Given the description of an element on the screen output the (x, y) to click on. 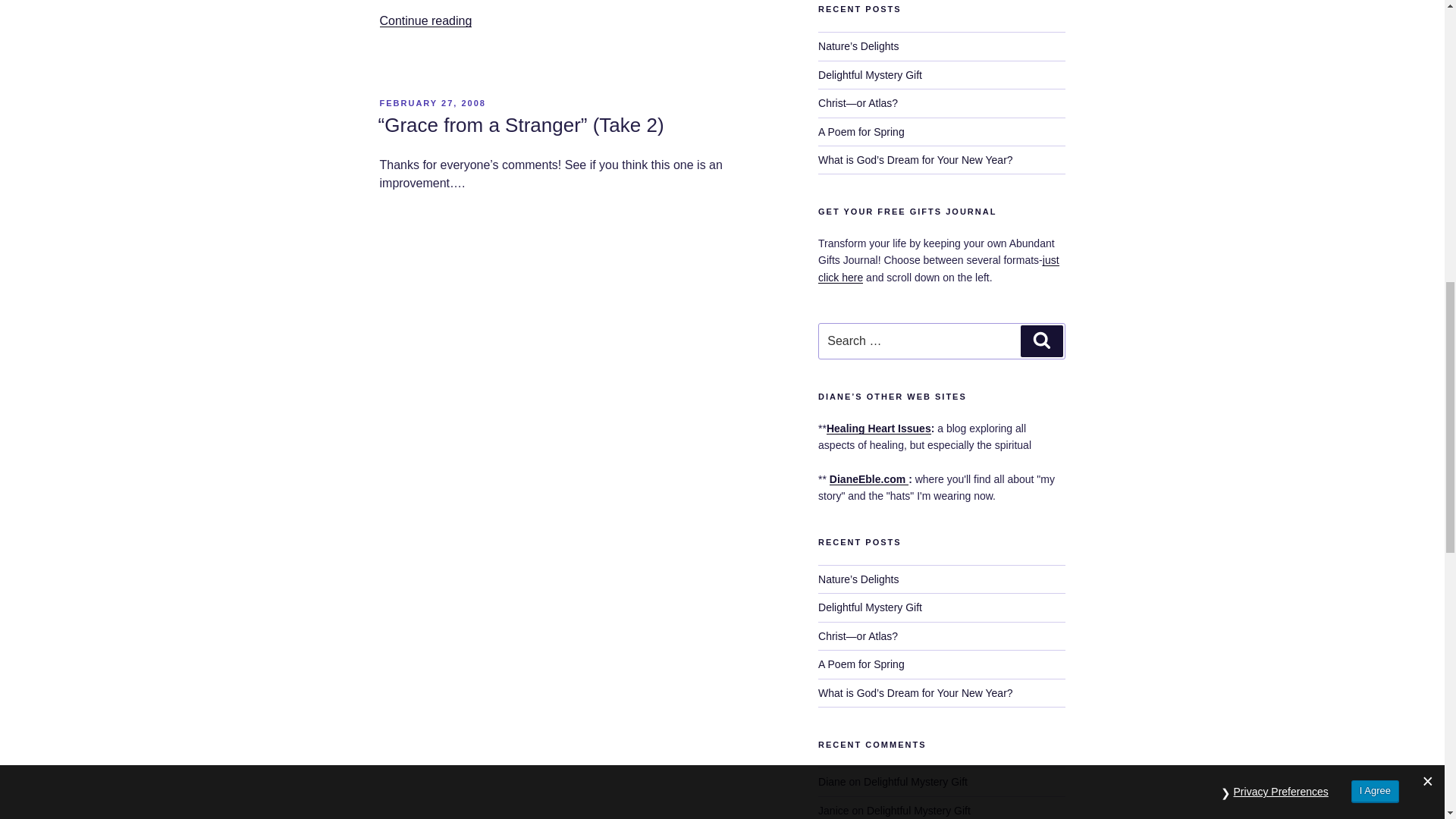
Delightful Mystery Gift (918, 810)
Search (1041, 341)
Delightful Mystery Gift (915, 781)
DianeEble.com (868, 479)
Healing Heart Issues (879, 428)
Delightful Mystery Gift (869, 74)
A Poem for Spring (861, 132)
just click here (938, 267)
Diane (831, 781)
A Poem for Spring (861, 664)
FEBRUARY 27, 2008 (431, 102)
Delightful Mystery Gift (869, 607)
